Given the description of an element on the screen output the (x, y) to click on. 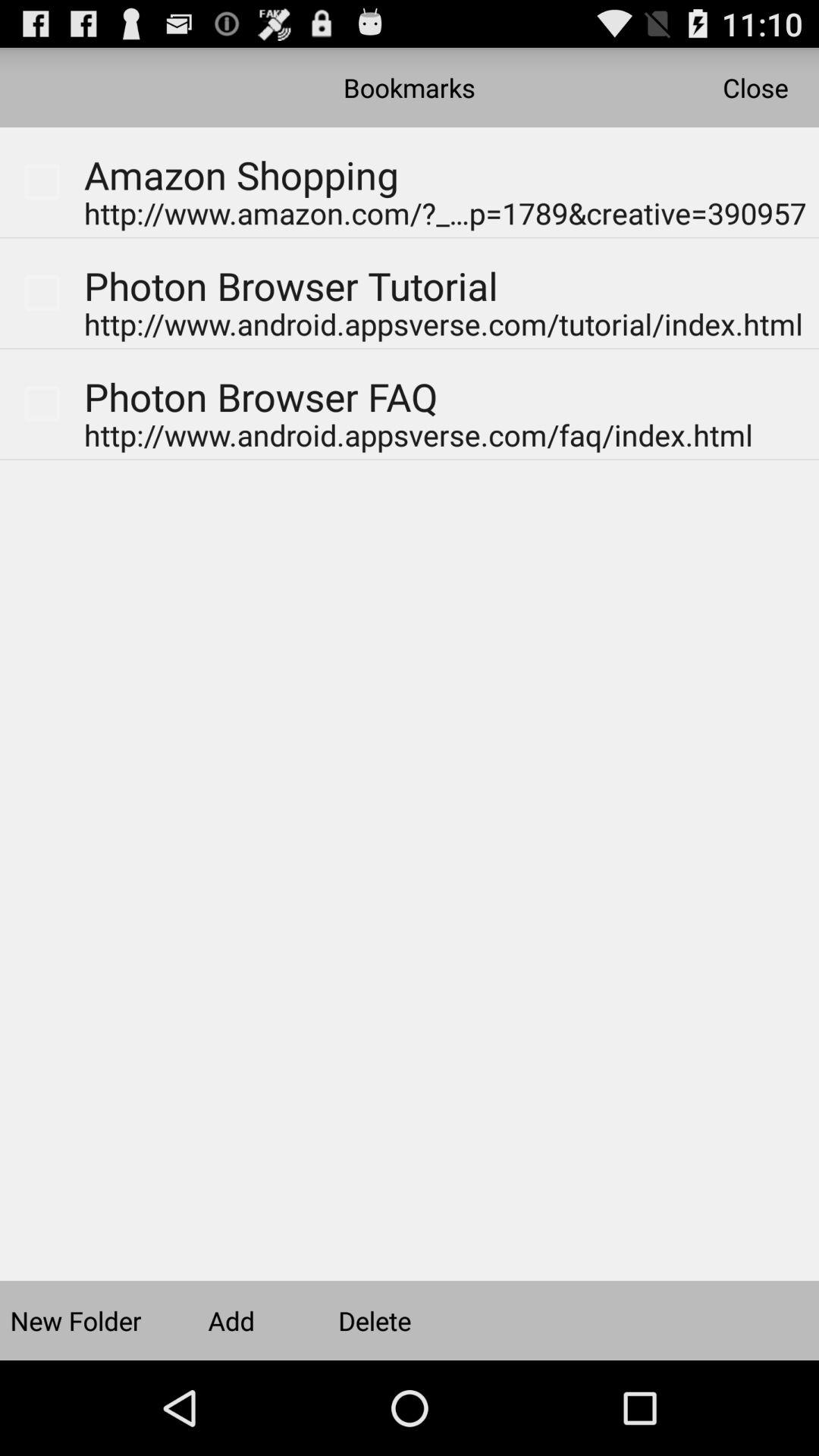
amazon shopping (228, 153)
select the photon browser tutorial (290, 293)
select the link under photon browser faq (418, 436)
